Given the description of an element on the screen output the (x, y) to click on. 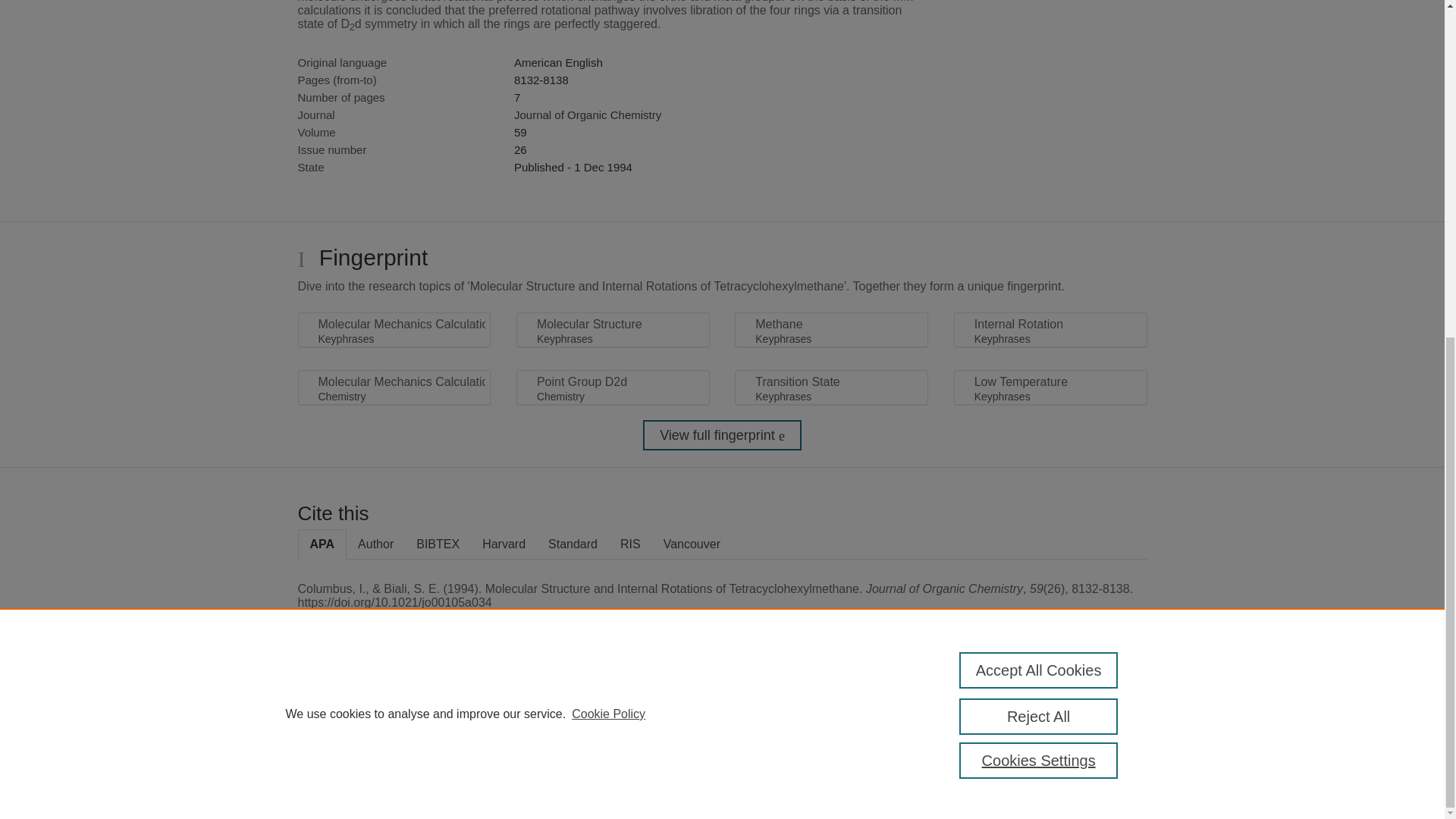
View full fingerprint (722, 435)
About web accessibility (1088, 713)
Reject All (1038, 148)
Journal of Organic Chemistry (587, 114)
Elsevier B.V. (506, 728)
Scopus (394, 708)
Cookie Policy (608, 145)
Cookies Settings (334, 781)
Report vulnerability (1088, 745)
Cookies Settings (1038, 192)
